Given the description of an element on the screen output the (x, y) to click on. 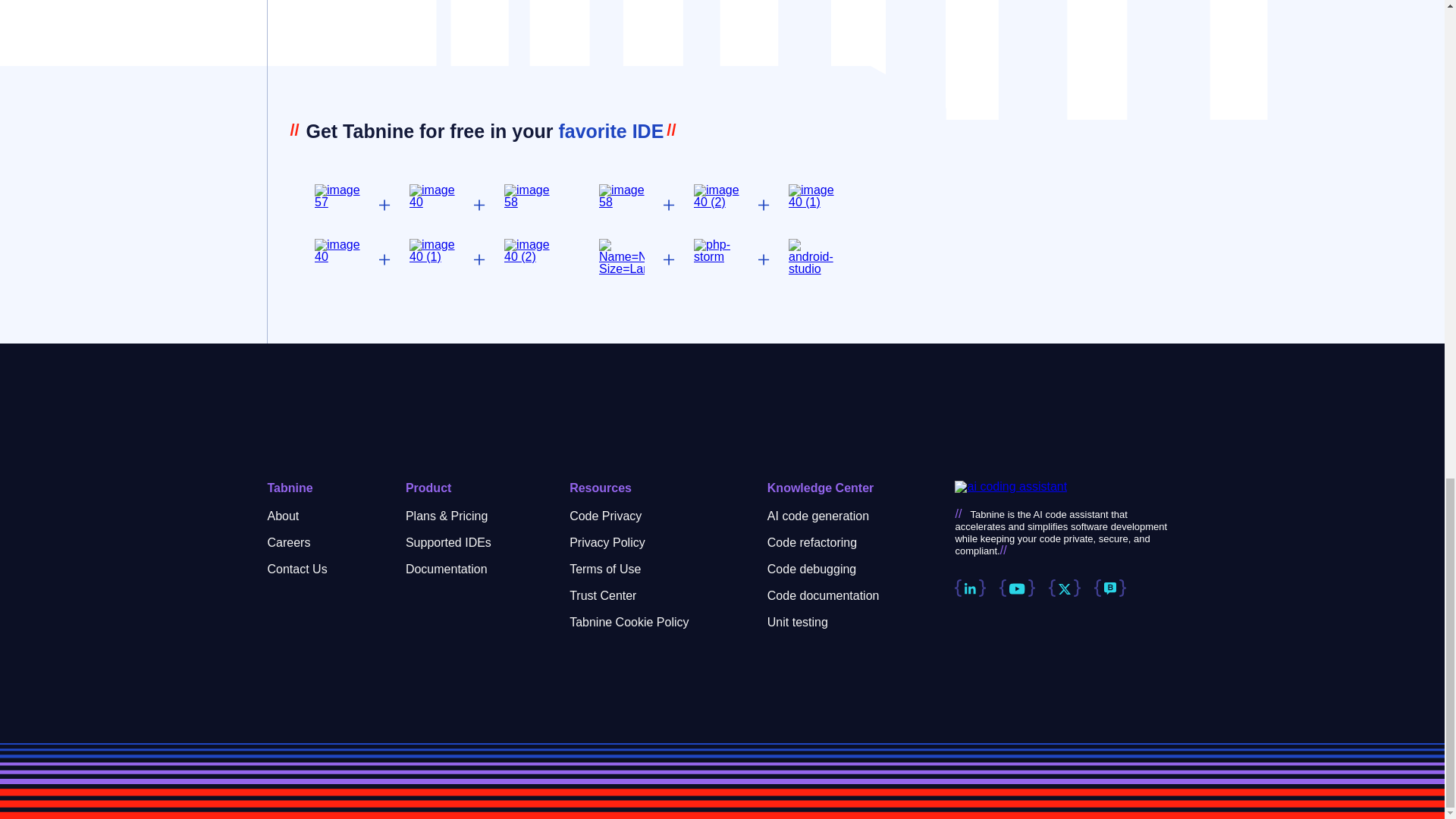
CLion (526, 250)
Visual Studio (621, 196)
Eclipse (526, 196)
PyCharm (811, 196)
IntelliJ (431, 196)
RubyMine (431, 250)
WebStorm (716, 196)
VS Code (336, 196)
GoLand (336, 250)
